Given the description of an element on the screen output the (x, y) to click on. 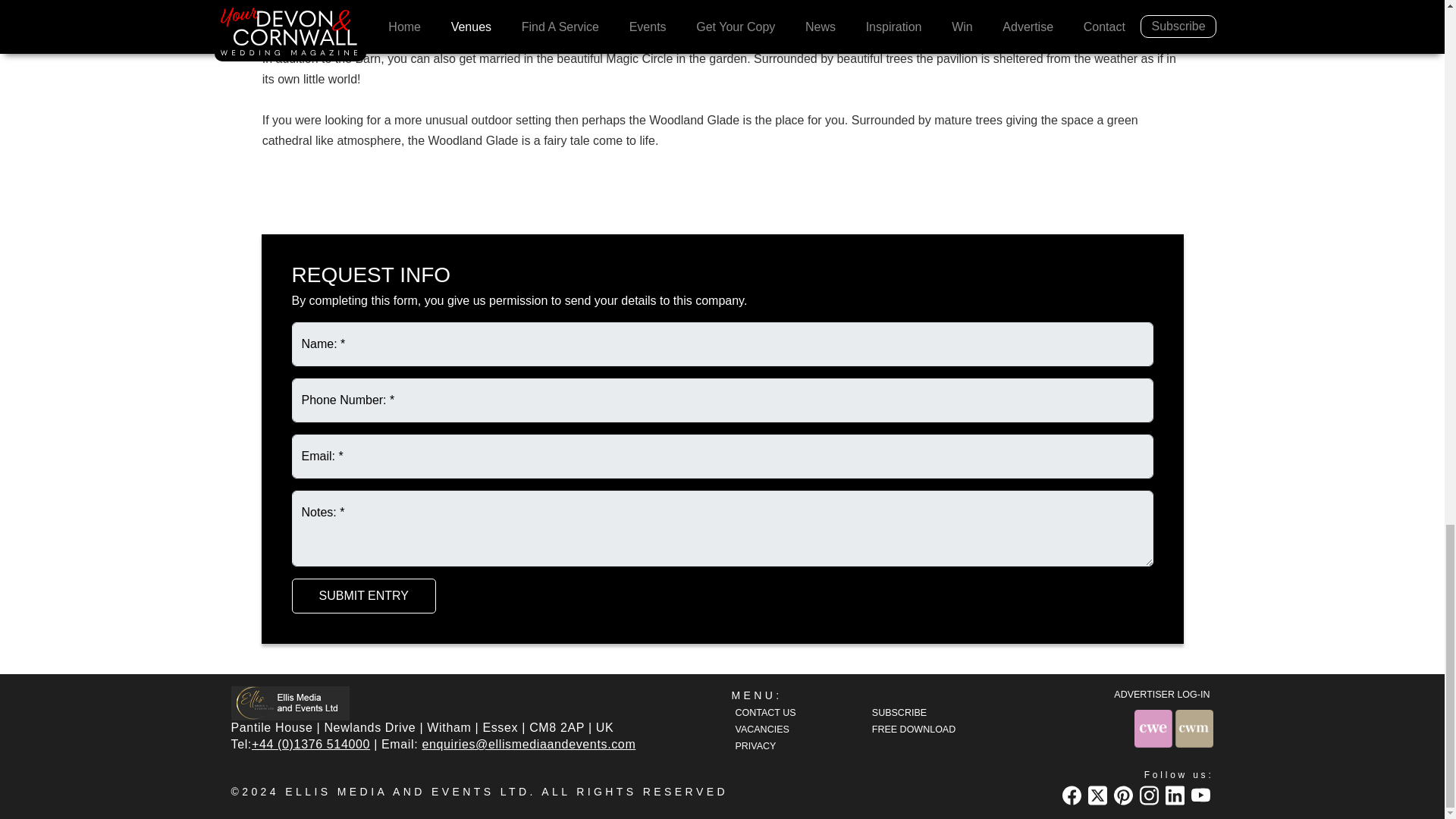
ADVERTISER LOG-IN (1159, 693)
VACANCIES (776, 729)
Submit Entry (363, 595)
ELLIS MEDIA AND EVENTS LTD (407, 791)
Visit the Ellis Media and Events Ltd website (289, 702)
FREE DOWNLOAD (913, 729)
CONTACT US (776, 712)
PRIVACY (776, 745)
SUBSCRIBE (913, 712)
Submit Entry (363, 595)
